Given the description of an element on the screen output the (x, y) to click on. 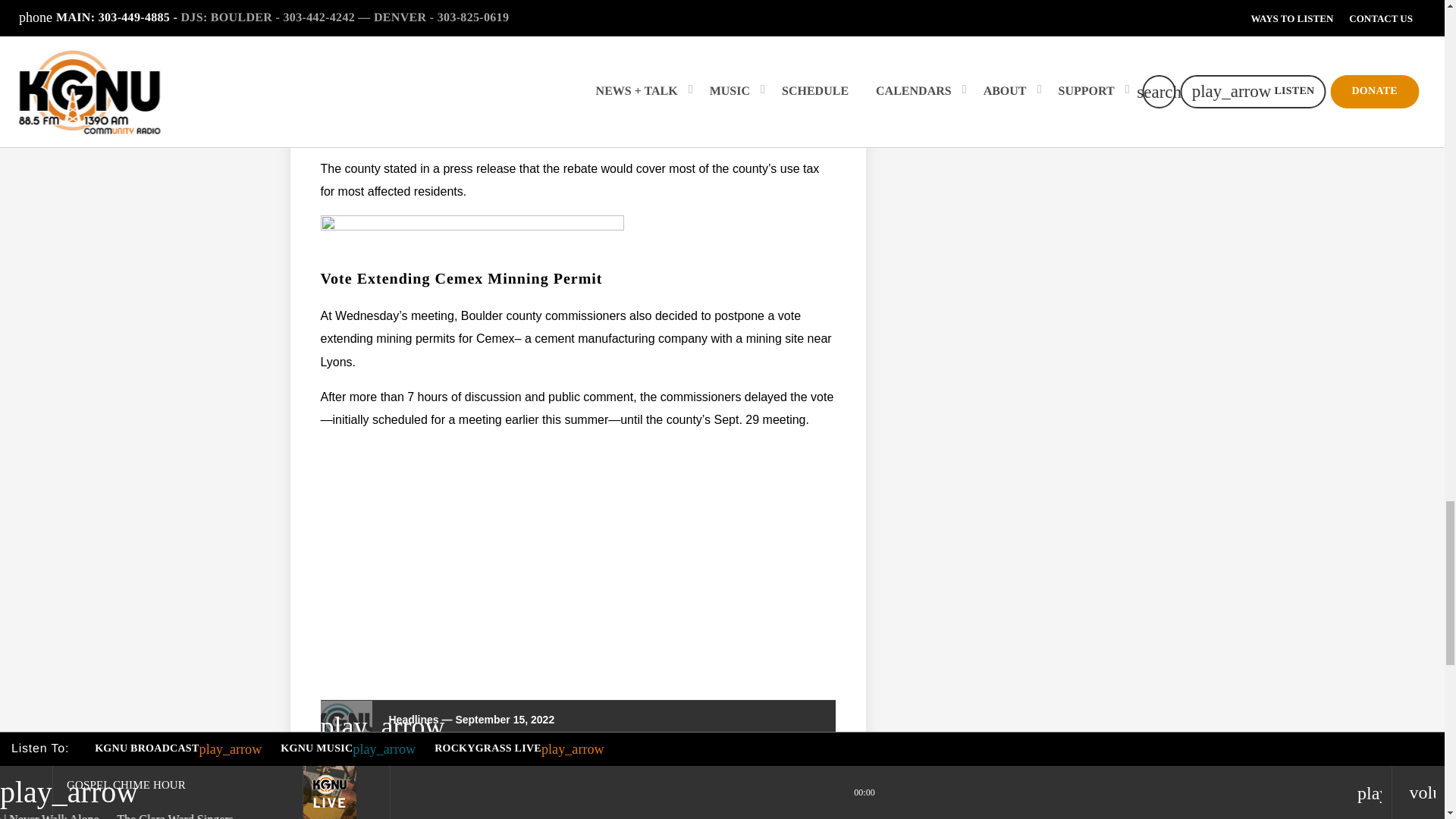
Play in new window (424, 762)
Download (513, 762)
